Given the description of an element on the screen output the (x, y) to click on. 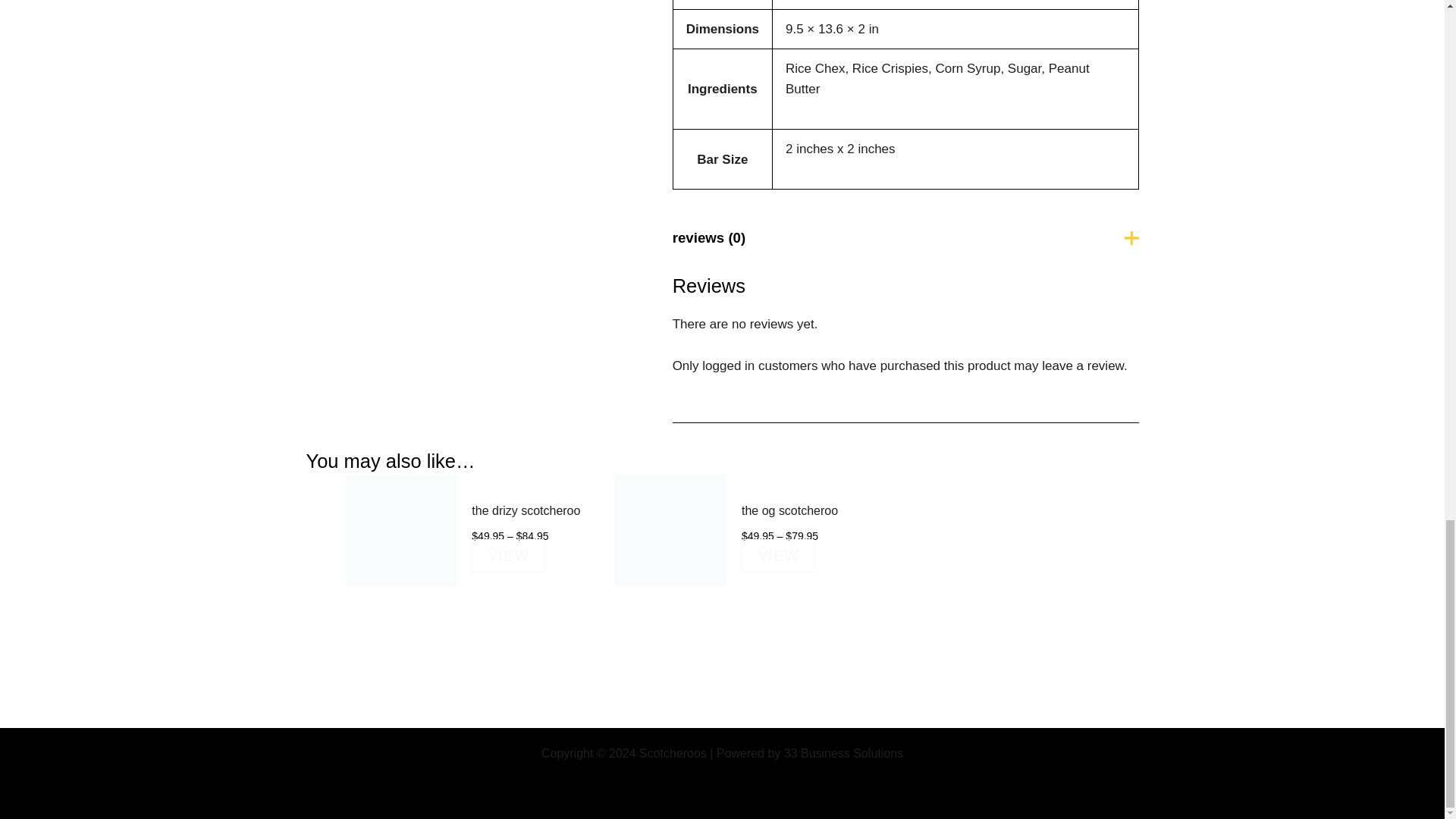
VIEW (778, 555)
the drizy scotcheroo (527, 522)
the og scotcheroo (797, 522)
VIEW (507, 555)
